Given the description of an element on the screen output the (x, y) to click on. 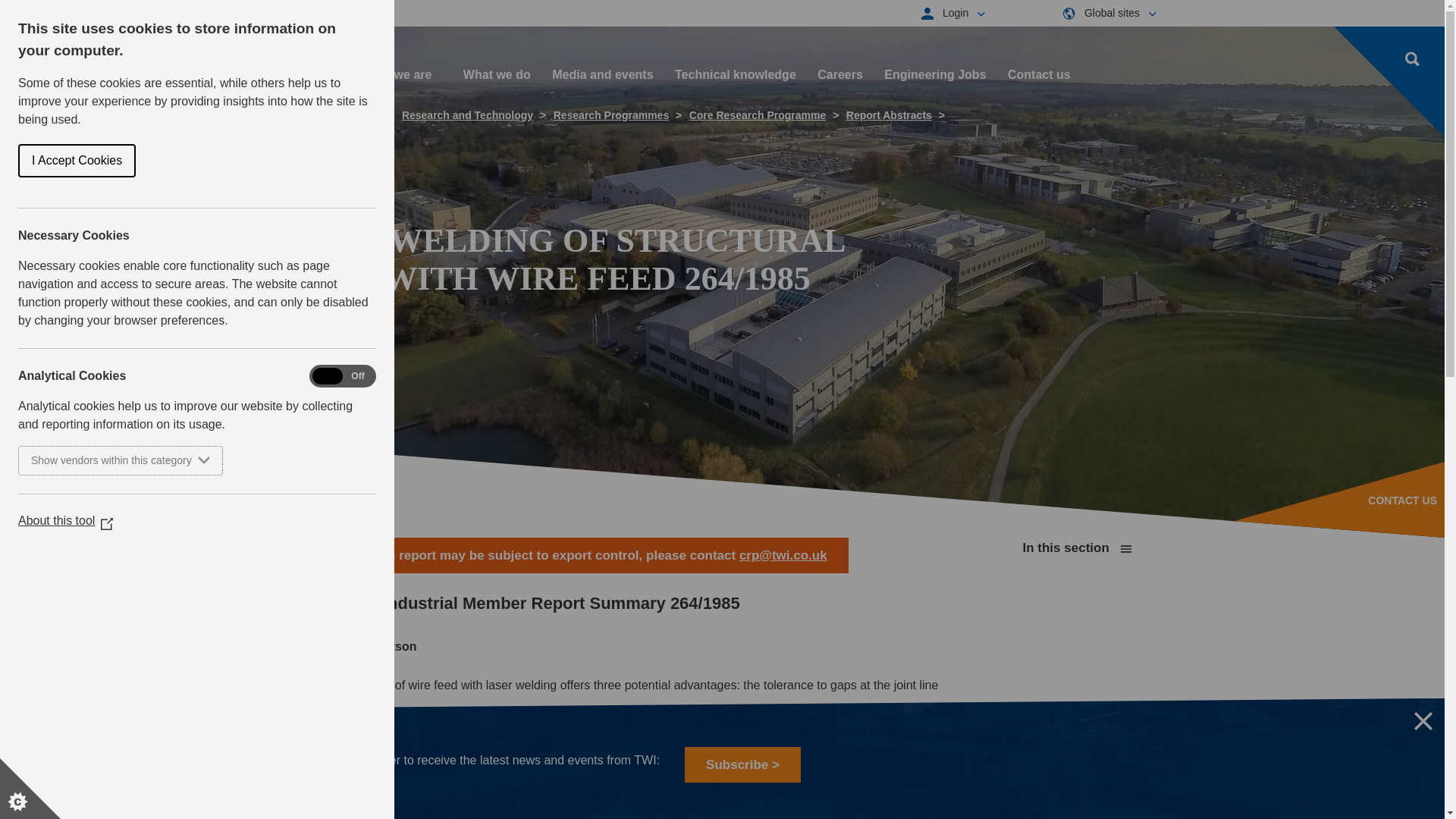
Show vendors within this category (86, 460)
